Given the description of an element on the screen output the (x, y) to click on. 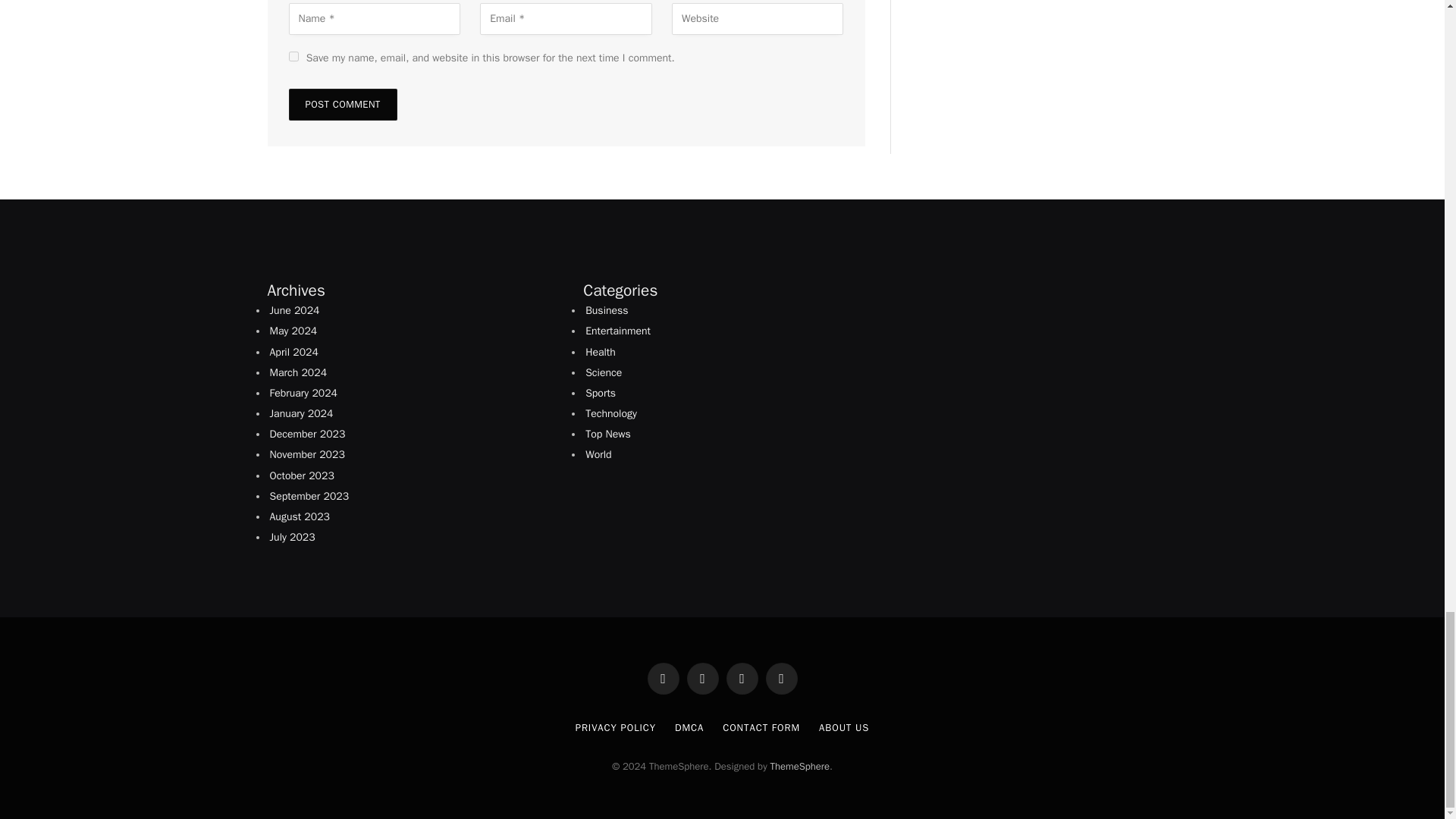
Post Comment (342, 104)
yes (293, 56)
